Given the description of an element on the screen output the (x, y) to click on. 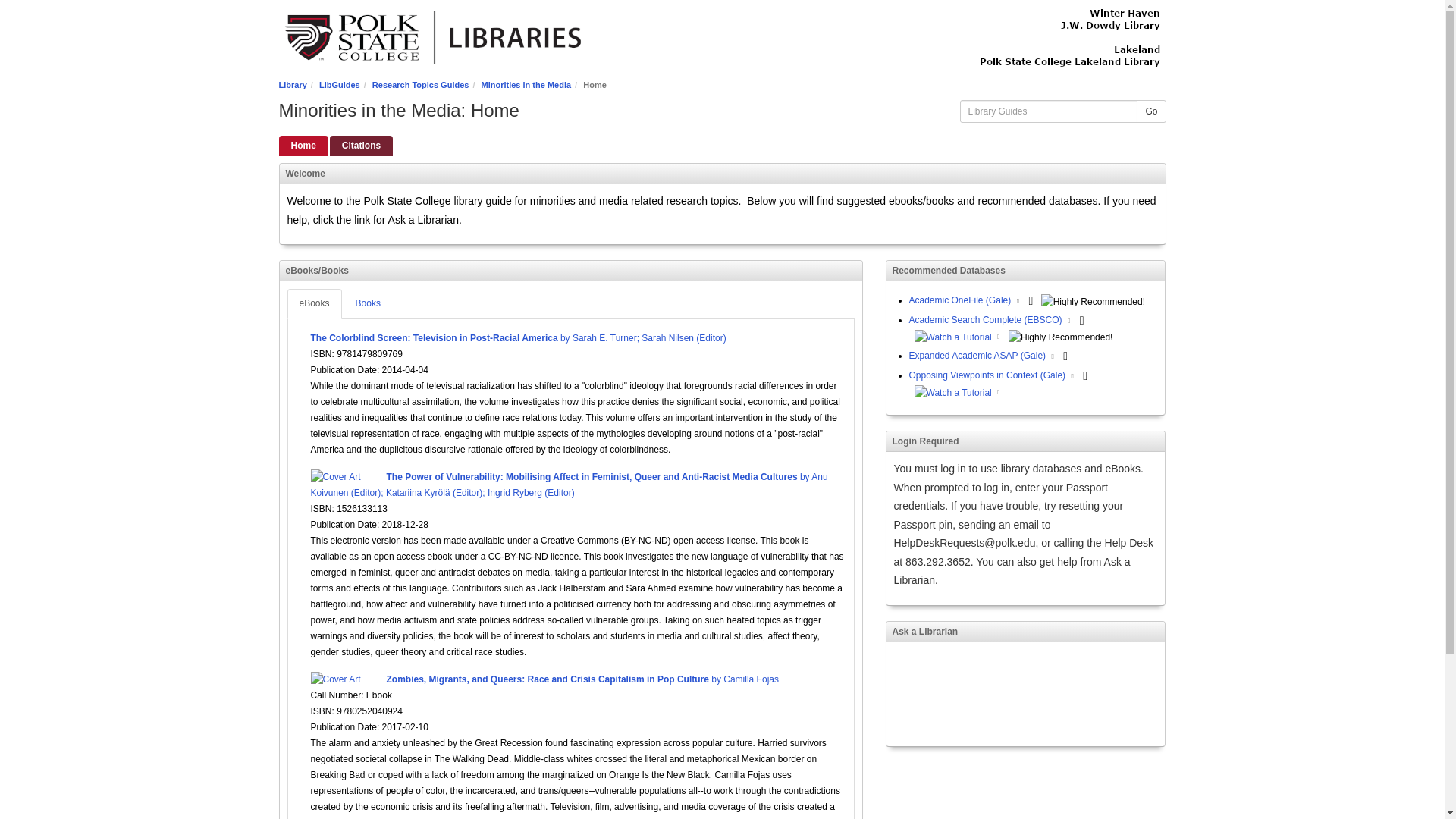
This link opens in a new window (998, 336)
eBooks (313, 303)
Library (293, 84)
Minorities in the Media (526, 84)
This link opens in a new window (1072, 376)
Research Topics Guides (420, 84)
Go (1151, 110)
LibGuides (338, 84)
